Given the description of an element on the screen output the (x, y) to click on. 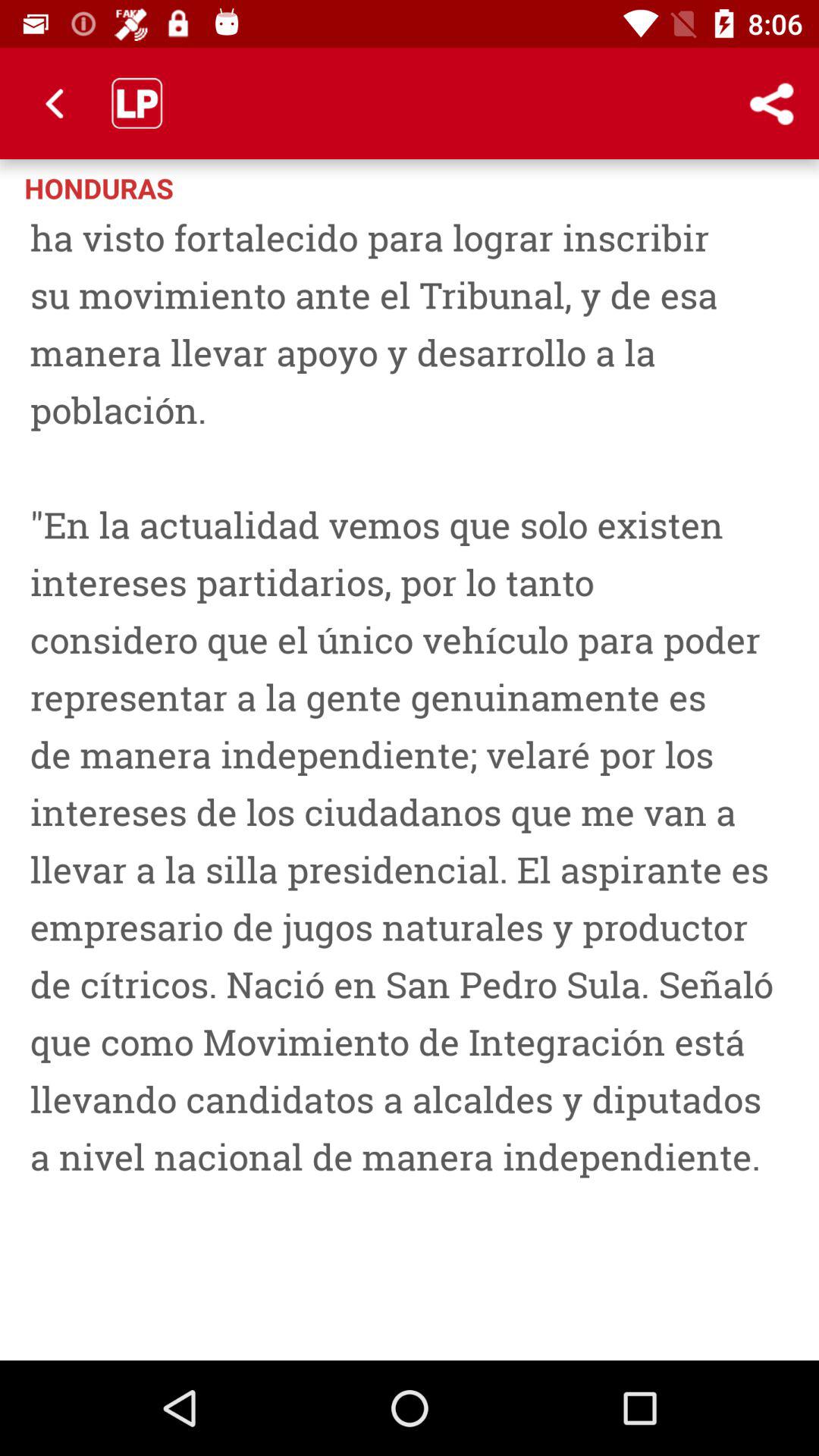
press icon above honduras (55, 103)
